Given the description of an element on the screen output the (x, y) to click on. 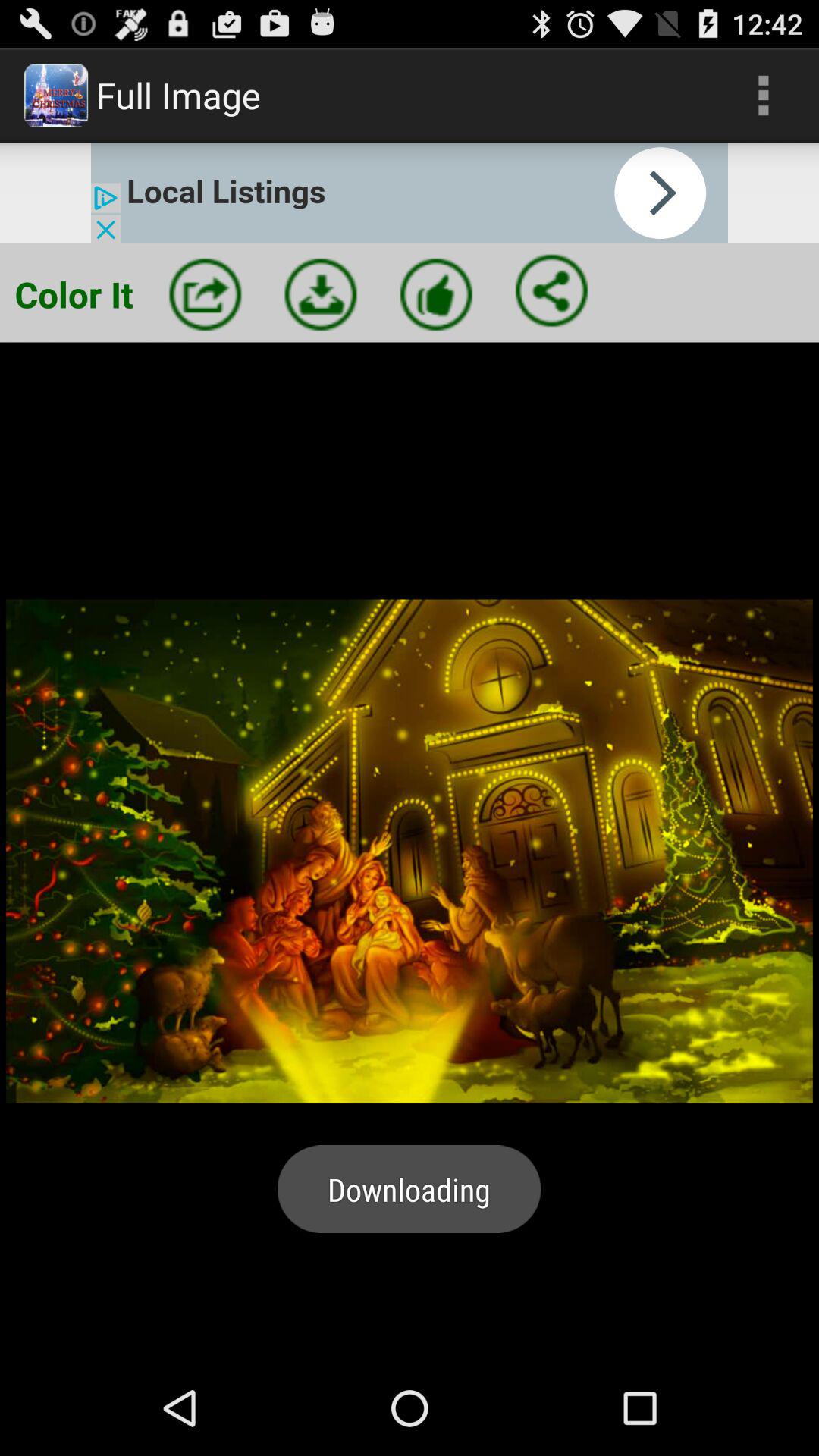
hit button with down arrow (320, 294)
